Given the description of an element on the screen output the (x, y) to click on. 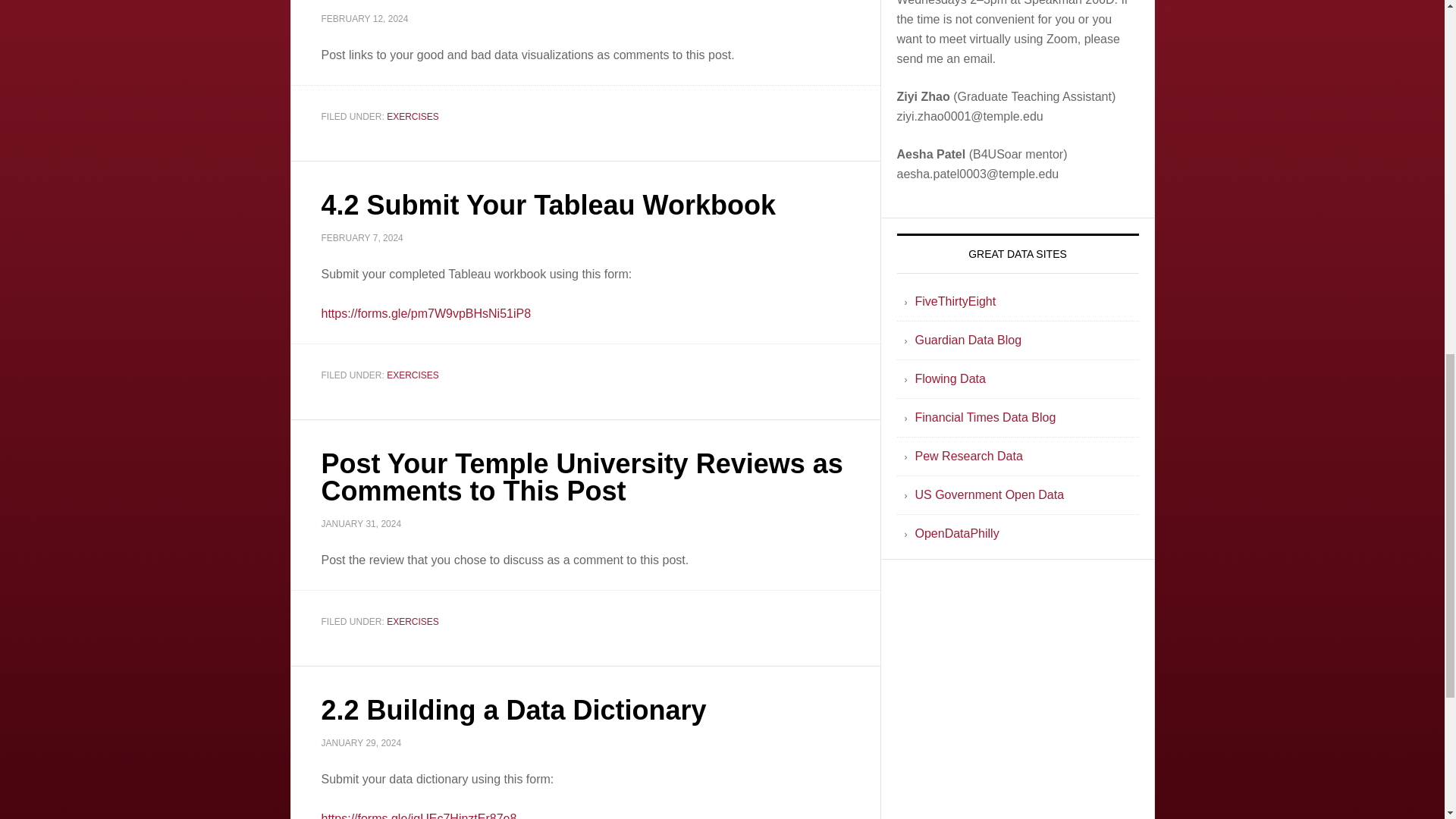
Pew Research Data (968, 455)
Guardian Data Blog (968, 339)
Financial Times Data Blog (984, 417)
EXERCISES (413, 620)
EXERCISES (413, 375)
FiveThirtyEight (954, 300)
Flowing Data (949, 378)
2.2 Building a Data Dictionary (513, 709)
US Government Open Data (989, 494)
4.2 Submit Your Tableau Workbook (548, 204)
EXERCISES (413, 115)
Post Your Temple University Reviews as Comments to This Post (582, 476)
